Given the description of an element on the screen output the (x, y) to click on. 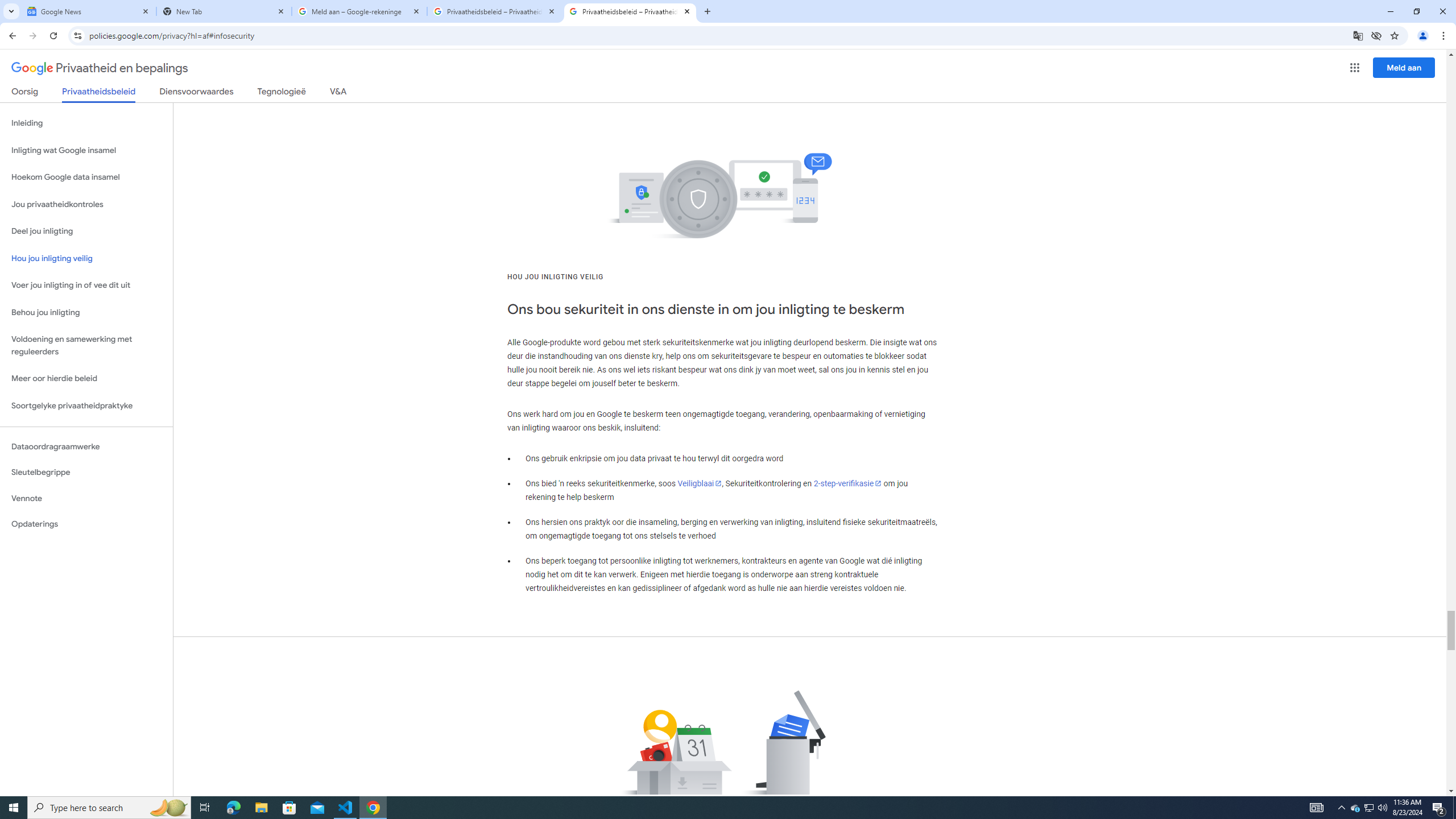
Hoekom Google data insamel (86, 176)
Diensvoorwaardes (196, 93)
Oorsig (25, 93)
2-step-verifikasie (847, 483)
Privaatheid en bepalings (99, 68)
Inligting wat Google insamel (86, 150)
Vennote (86, 497)
Google News (88, 11)
Privaatheidsbeleid (98, 94)
